Given the description of an element on the screen output the (x, y) to click on. 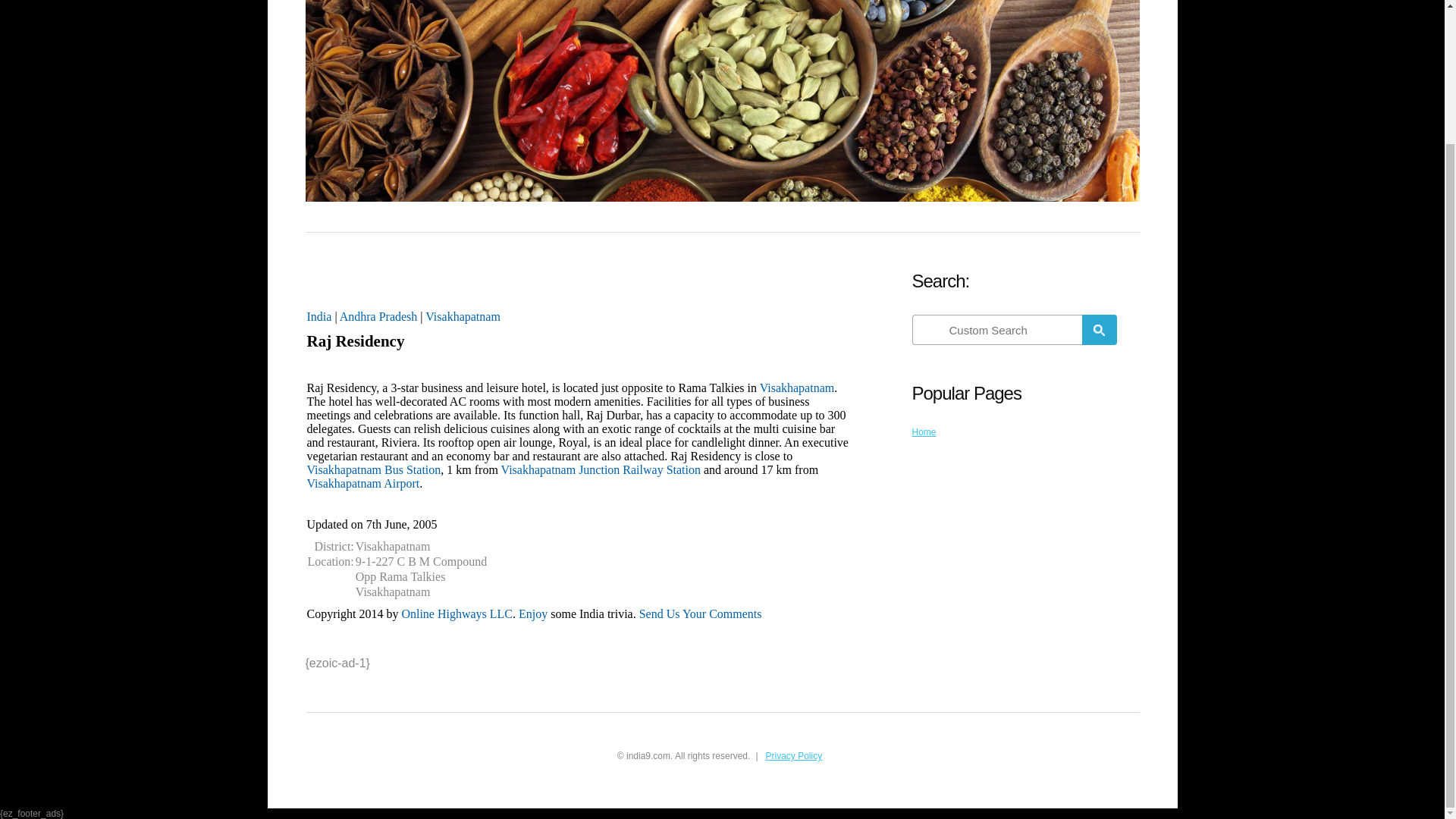
India (318, 316)
Andhra Pradesh (378, 316)
Home (923, 431)
Enjoy (532, 613)
search (997, 329)
Visakhapatnam Airport (362, 482)
Visakhapatnam (797, 387)
Visakhapatnam Junction Railway Station (600, 469)
Send Us Your Comments (700, 613)
City (462, 316)
Visakhapatnam Bus Station (373, 469)
Visakhapatnam (462, 316)
search (1098, 329)
Privacy Policy (793, 756)
State (378, 316)
